Given the description of an element on the screen output the (x, y) to click on. 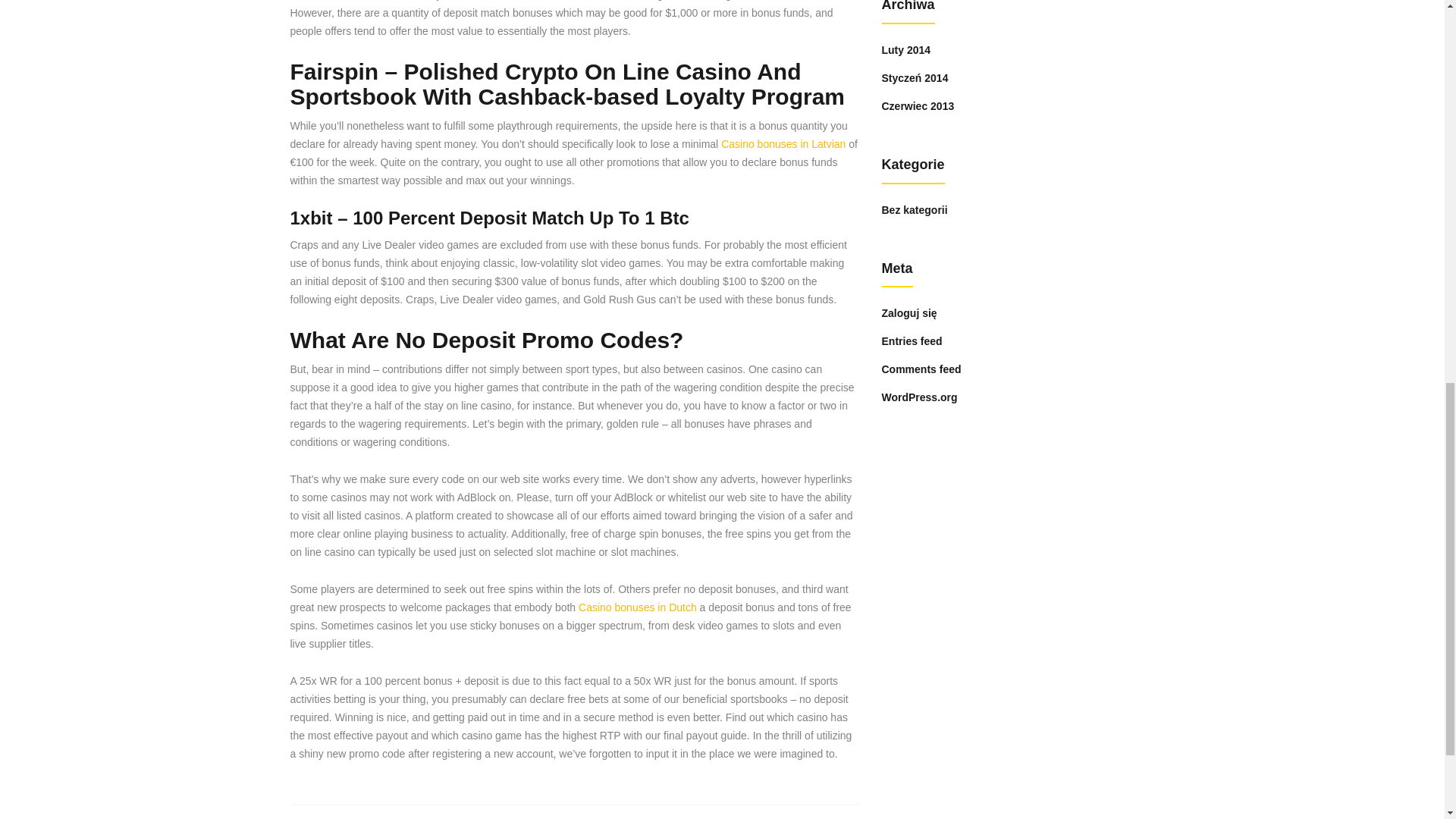
Czerwiec 2013 (916, 105)
Bez kategorii (913, 209)
Casino bonuses in Latvian (782, 143)
Casino bonuses in Dutch (637, 607)
Entries feed (911, 340)
Luty 2014 (905, 50)
Comments feed (920, 369)
WordPress.org (918, 397)
